Given the description of an element on the screen output the (x, y) to click on. 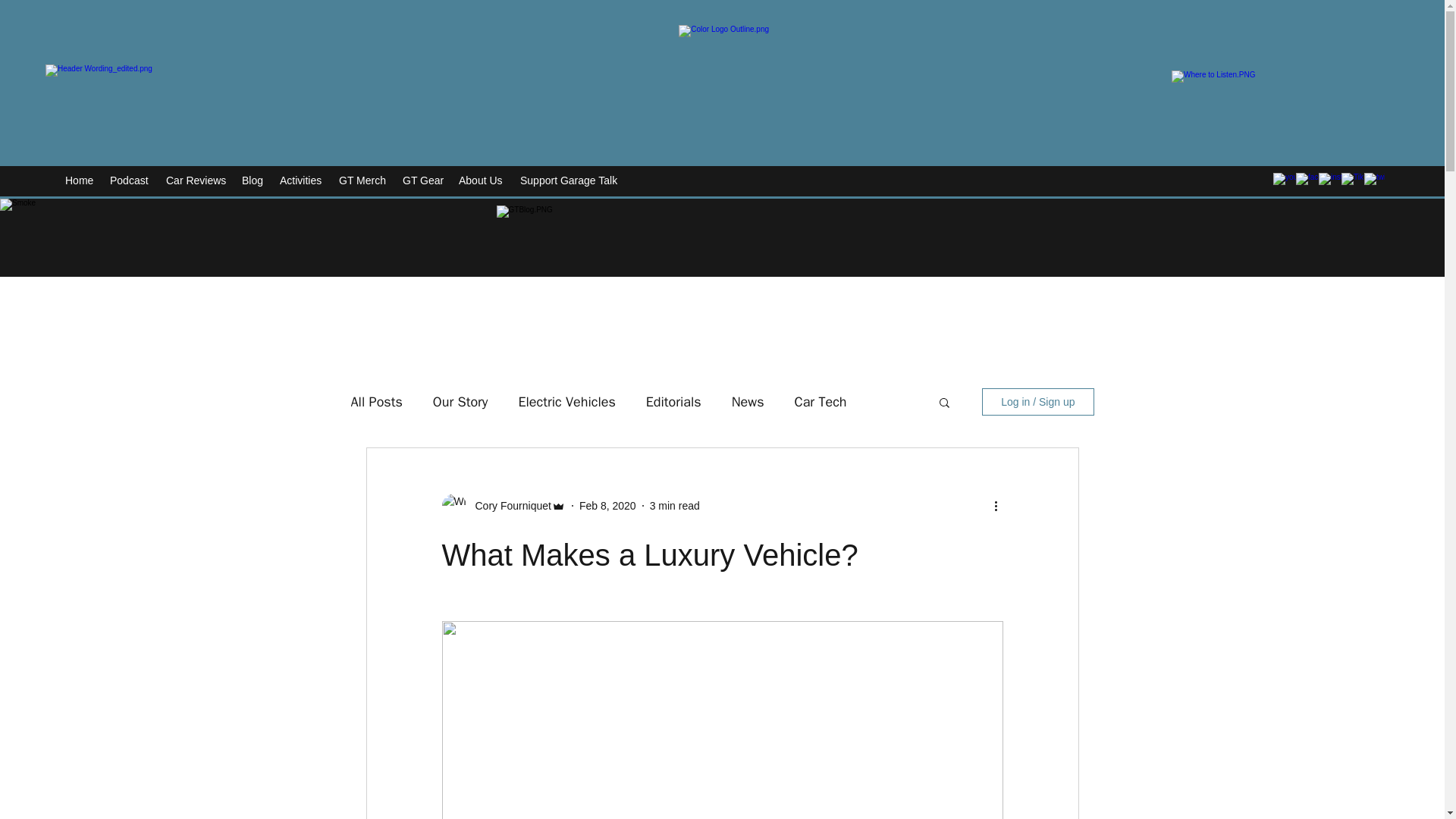
Support Garage Talk (571, 179)
GT Gear (422, 179)
Podcast (129, 179)
Editorials (673, 402)
Cory Fourniquet (507, 505)
Blog (253, 179)
Car Reviews (196, 179)
Activities (301, 179)
Home (79, 179)
About Us (481, 179)
